Given the description of an element on the screen output the (x, y) to click on. 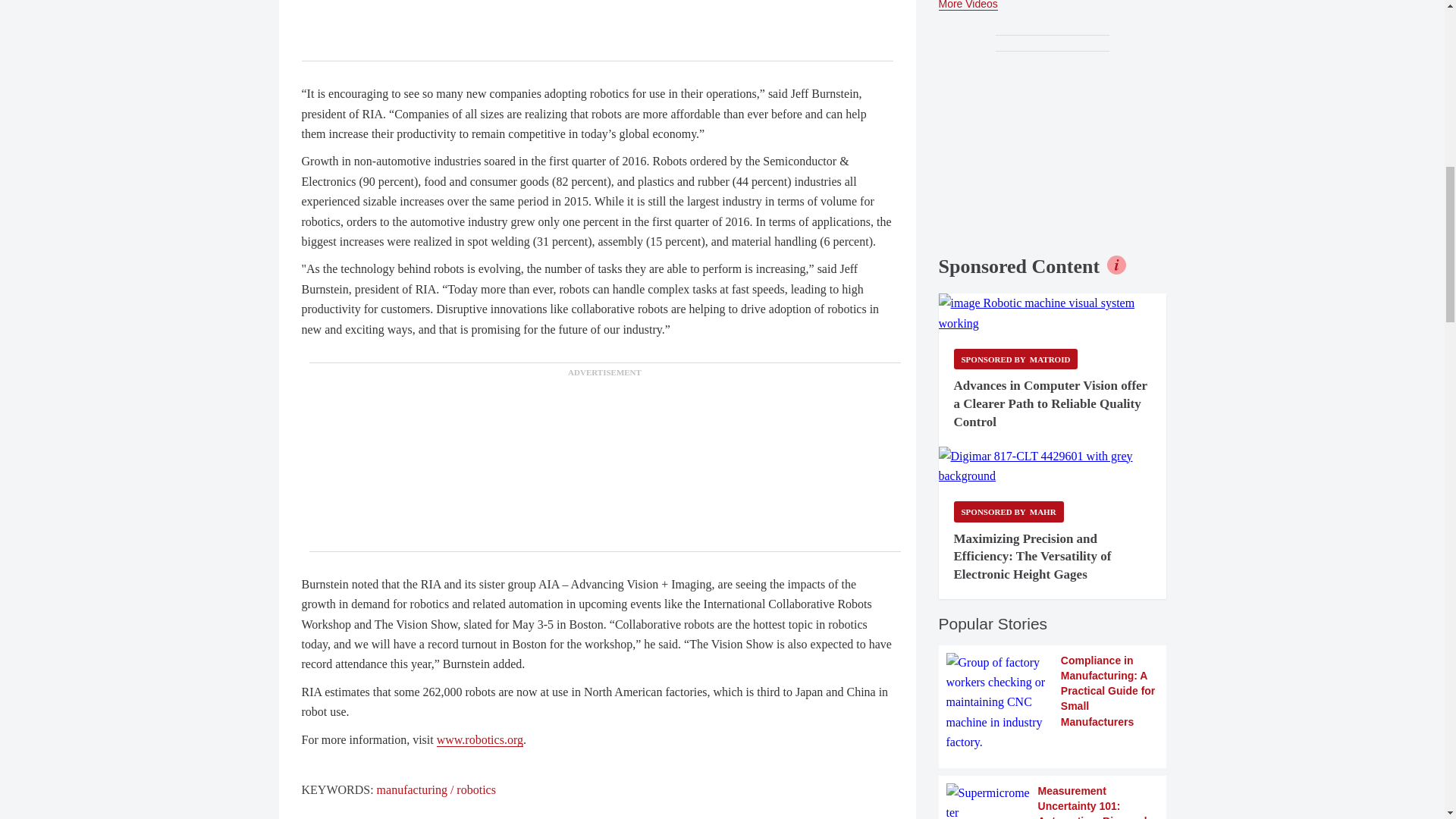
Sponsored by Mahr (1008, 511)
Sponsored by Matroid (1015, 358)
Robotic machine visual system working (1052, 313)
Digimar 817-CLT 4429601 with grey background (1052, 466)
